Given the description of an element on the screen output the (x, y) to click on. 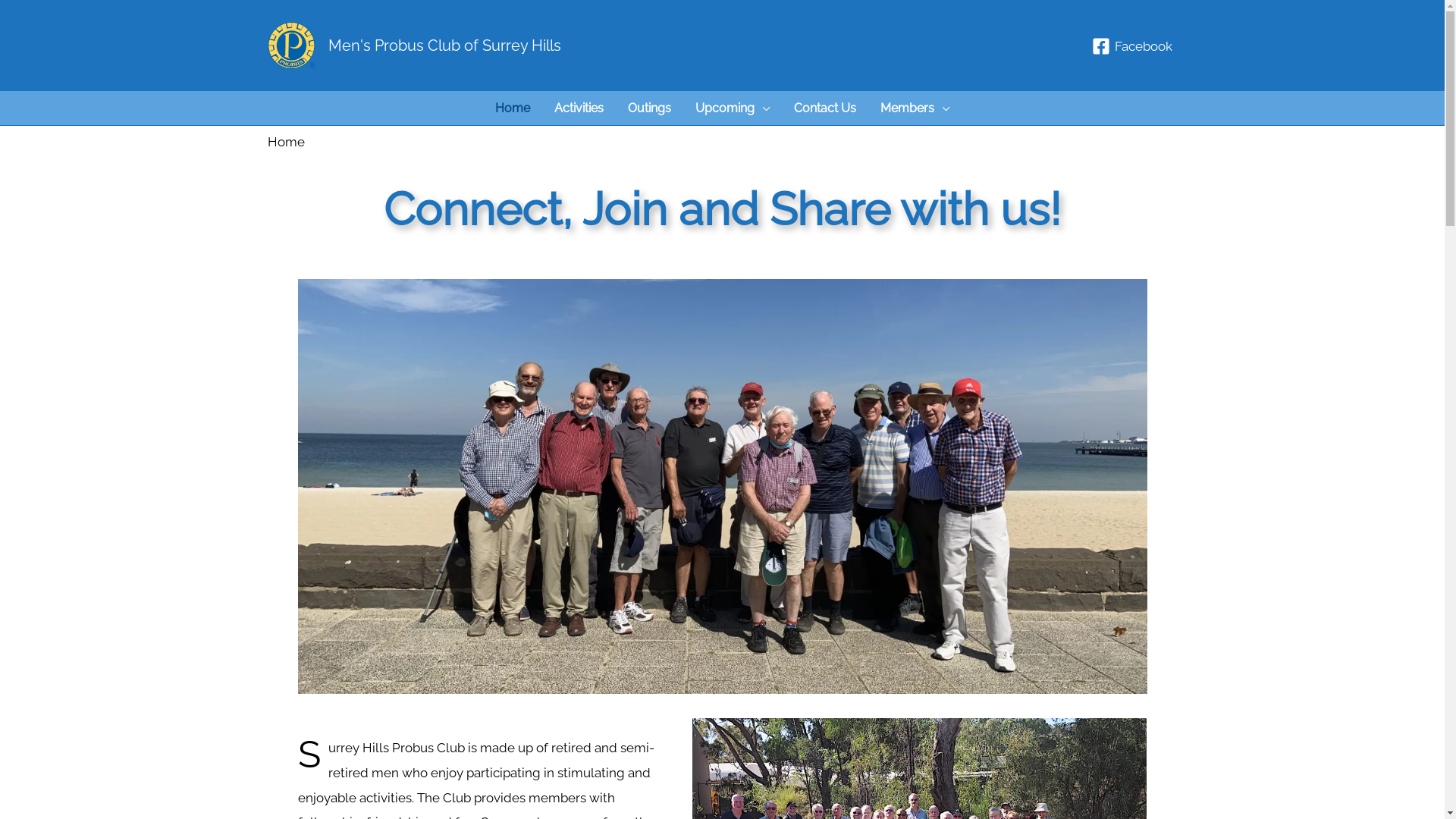
Facebook Element type: text (1131, 46)
Home Element type: text (512, 108)
Members Element type: text (914, 108)
Men's Probus Club of Surrey Hills Element type: text (443, 45)
Upcoming Element type: text (732, 108)
Contact Us Element type: text (824, 108)
Activities Element type: text (578, 108)
Outings Element type: text (649, 108)
